Given the description of an element on the screen output the (x, y) to click on. 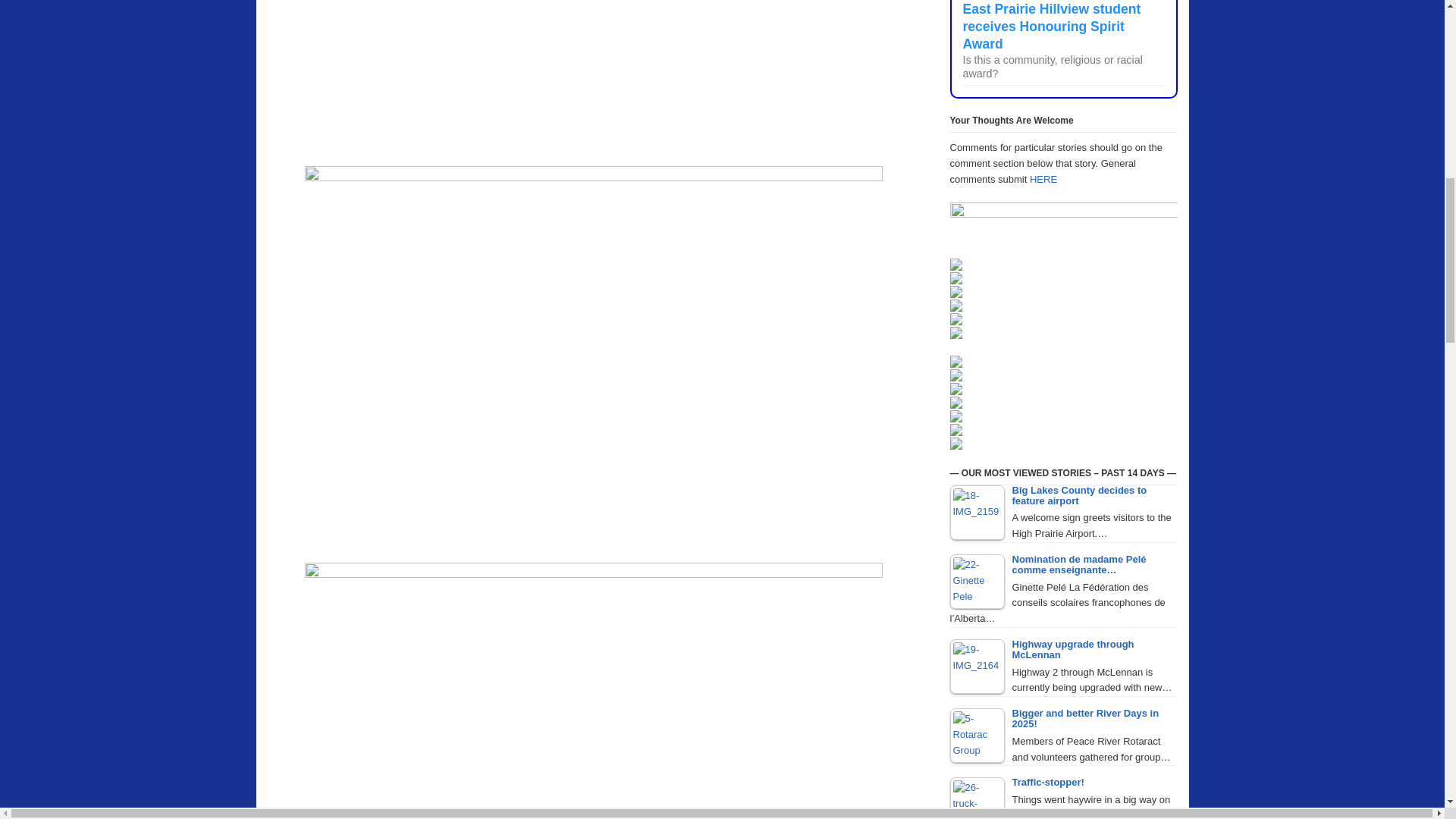
Big Lakes County decides to feature airport (976, 512)
Bigger and better River Days in 2025! (976, 735)
Highway upgrade through McLennan (976, 666)
Traffic-stopper! (976, 798)
